Given the description of an element on the screen output the (x, y) to click on. 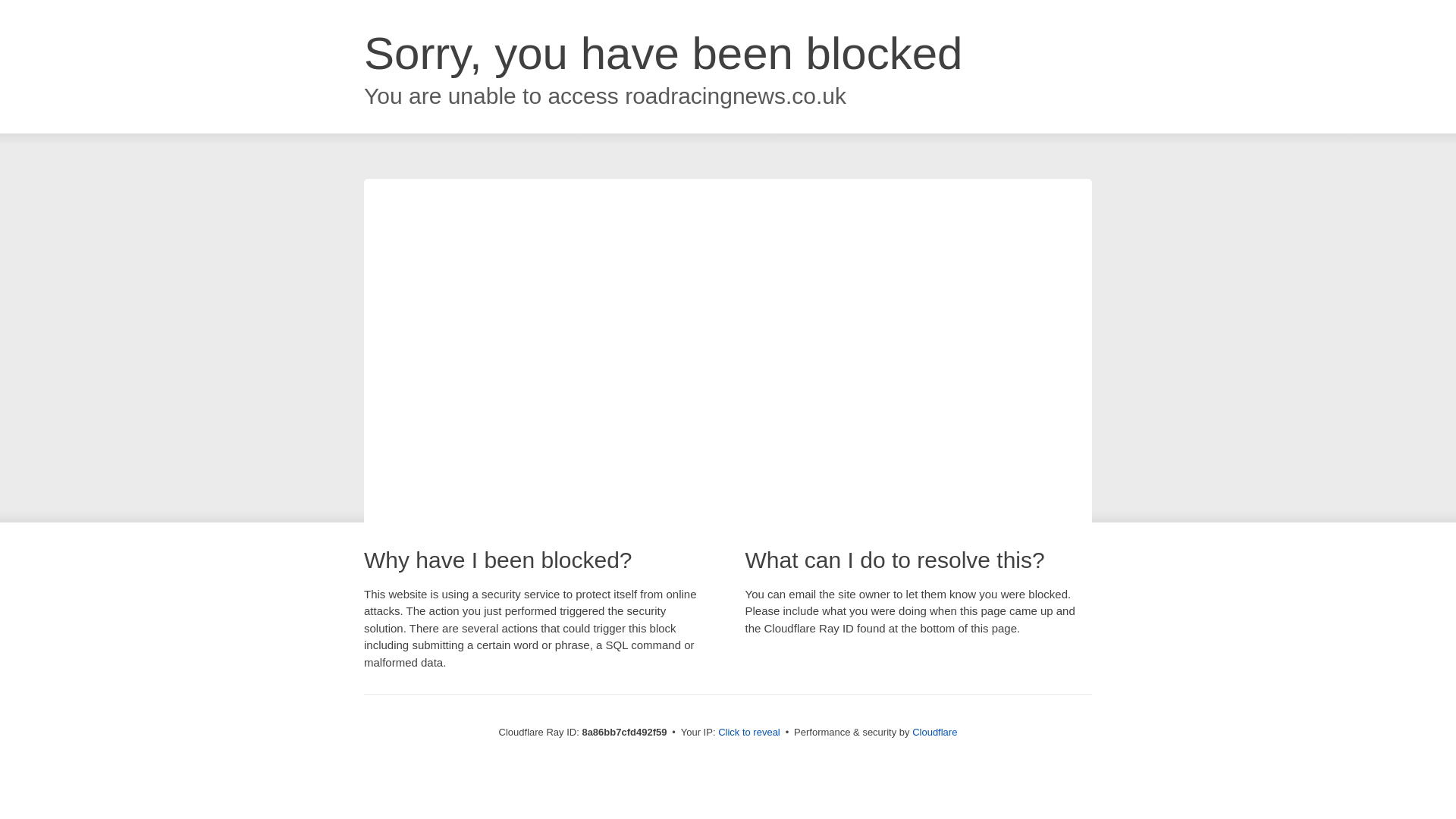
Cloudflare (934, 731)
Click to reveal (748, 732)
